Given the description of an element on the screen output the (x, y) to click on. 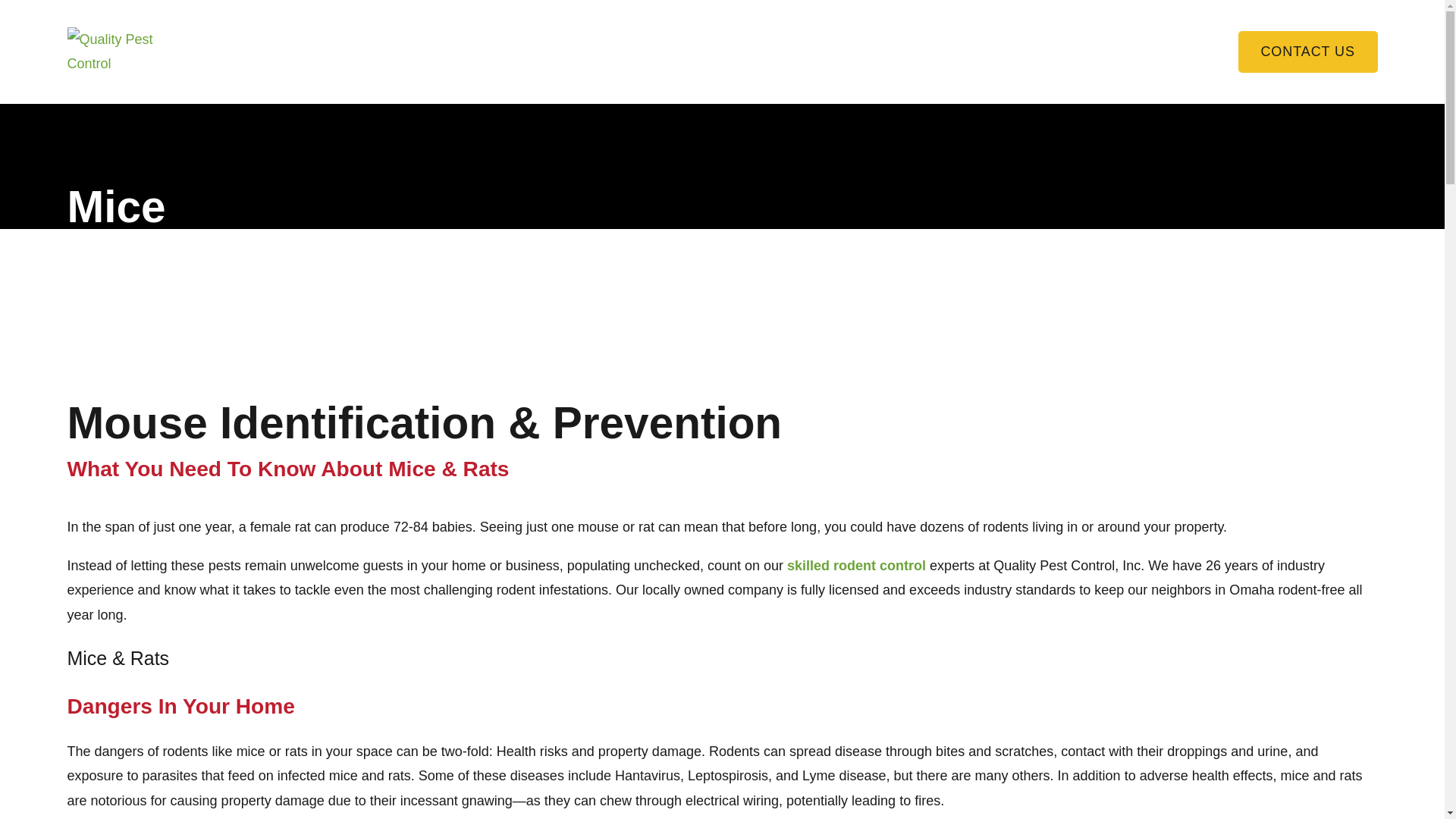
Home (123, 51)
Quality Pest Control (123, 51)
